Given the description of an element on the screen output the (x, y) to click on. 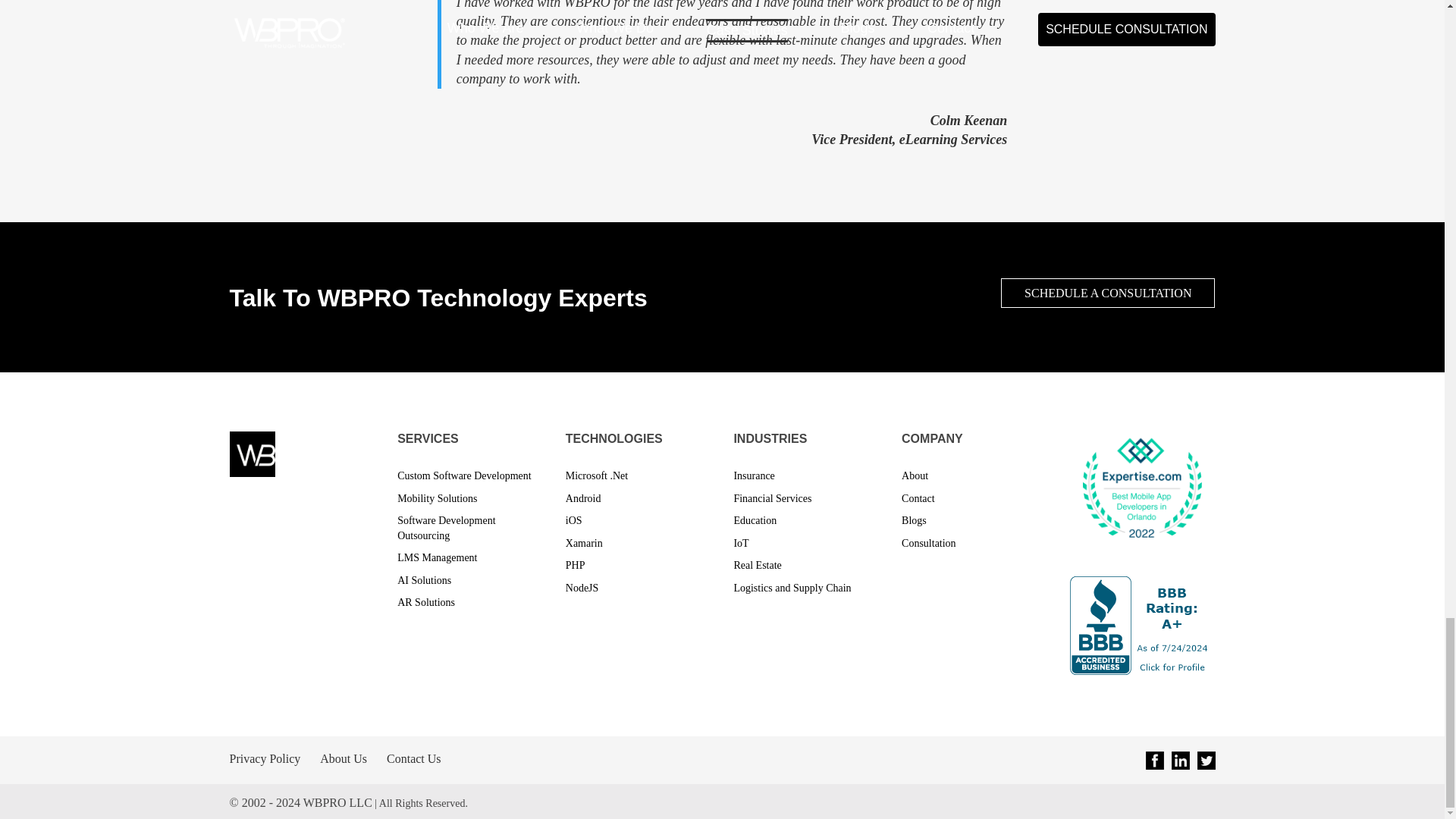
About (914, 475)
LMS Management (437, 557)
Xamarin (584, 542)
Contact Us (414, 758)
About Us (343, 758)
Logistics and Supply Chain (791, 587)
iOS (574, 520)
NodeJS (582, 587)
AI Solutions (424, 580)
PHP (575, 564)
Real Estate (756, 564)
Custom Software Development (464, 475)
AR Solutions (425, 602)
SCHEDULE A CONSULTATION (1107, 292)
Financial Services (771, 498)
